Given the description of an element on the screen output the (x, y) to click on. 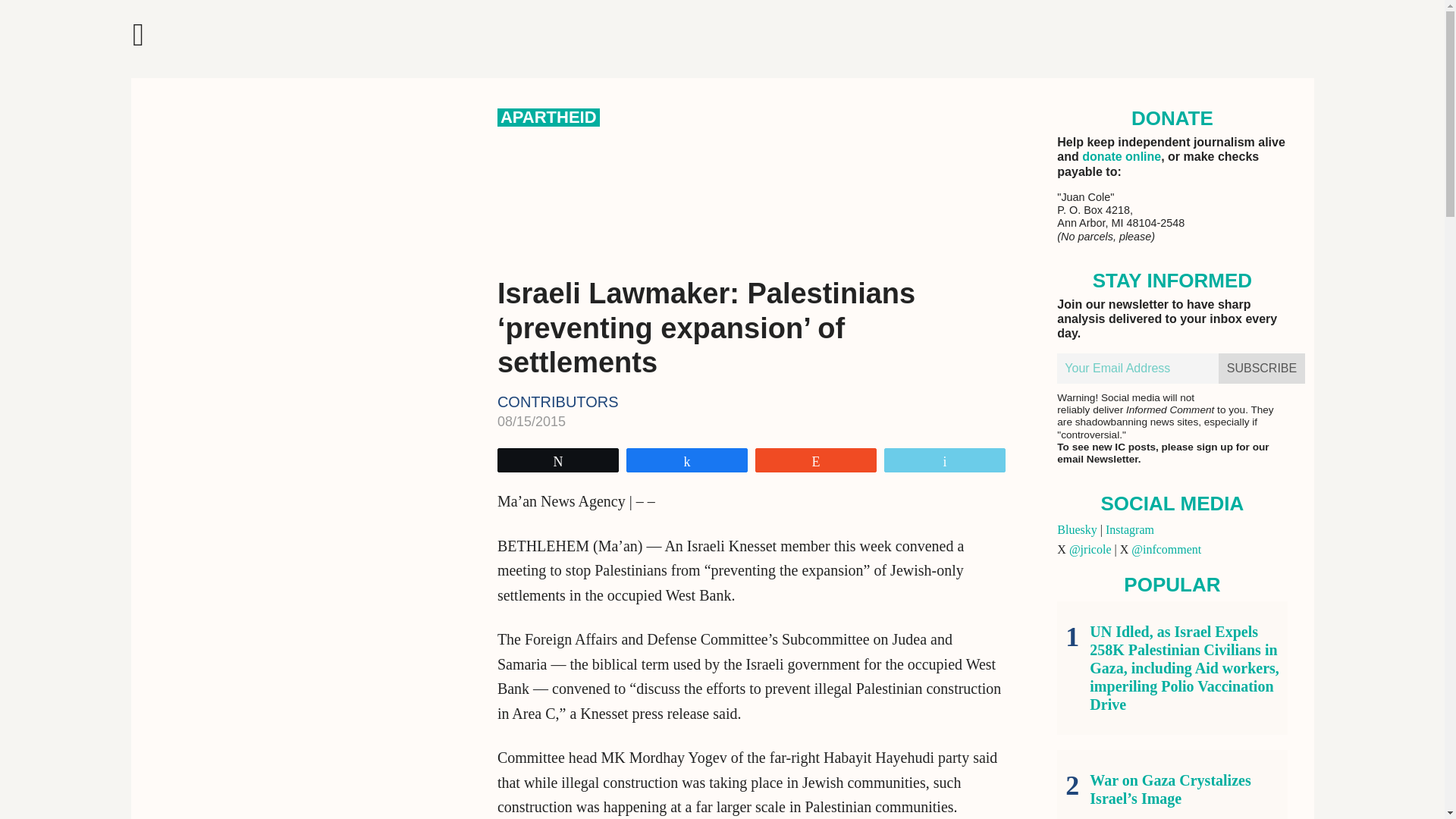
CONTRIBUTORS (557, 401)
subscribe (1262, 368)
Bluesky (1076, 529)
subscribe (1262, 368)
APARTHEID (548, 117)
Instagram (1129, 529)
donate online (1120, 155)
